Given the description of an element on the screen output the (x, y) to click on. 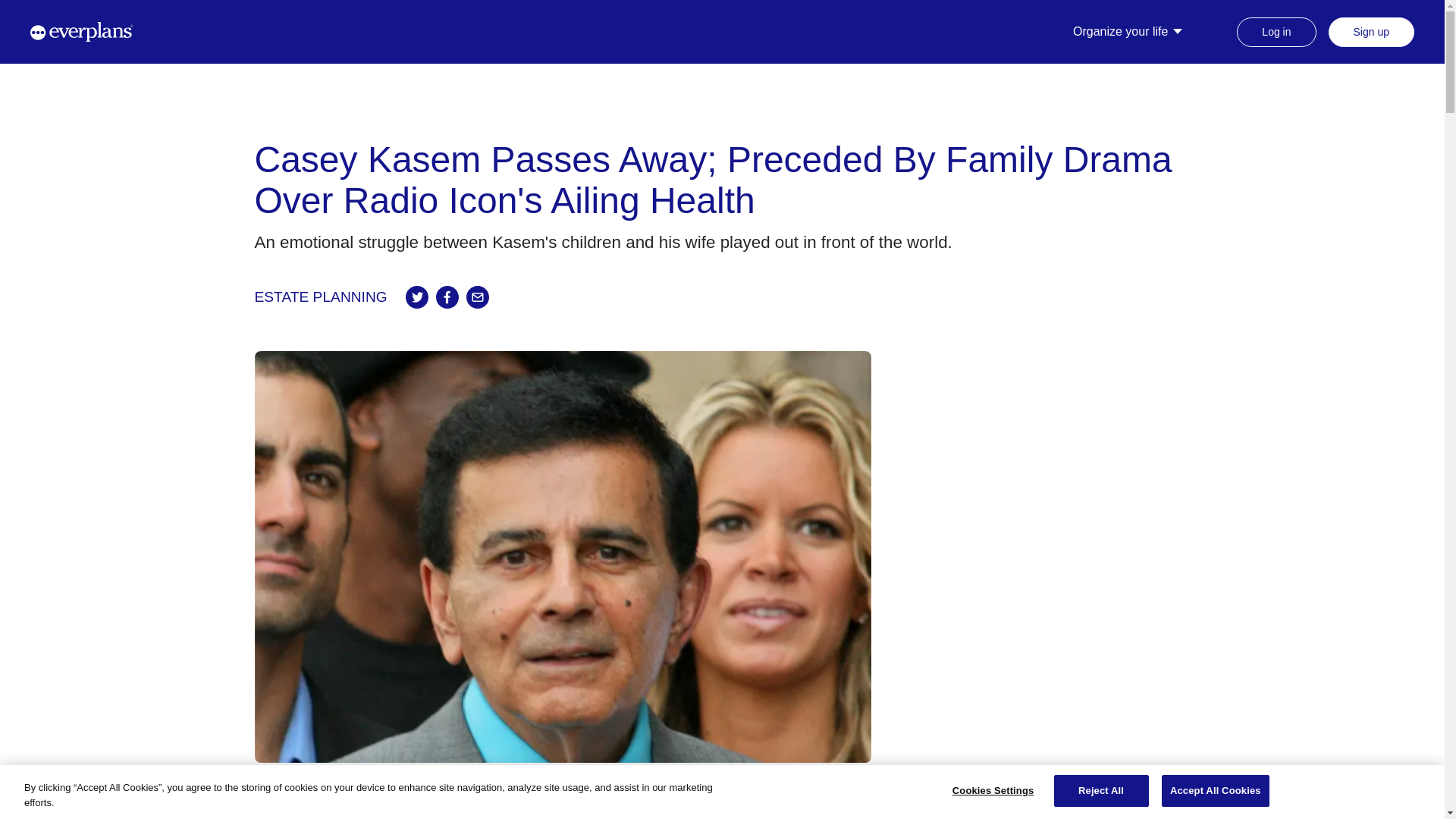
Sign up (1370, 30)
Log in (1276, 30)
Organize your life (1130, 31)
